Given the description of an element on the screen output the (x, y) to click on. 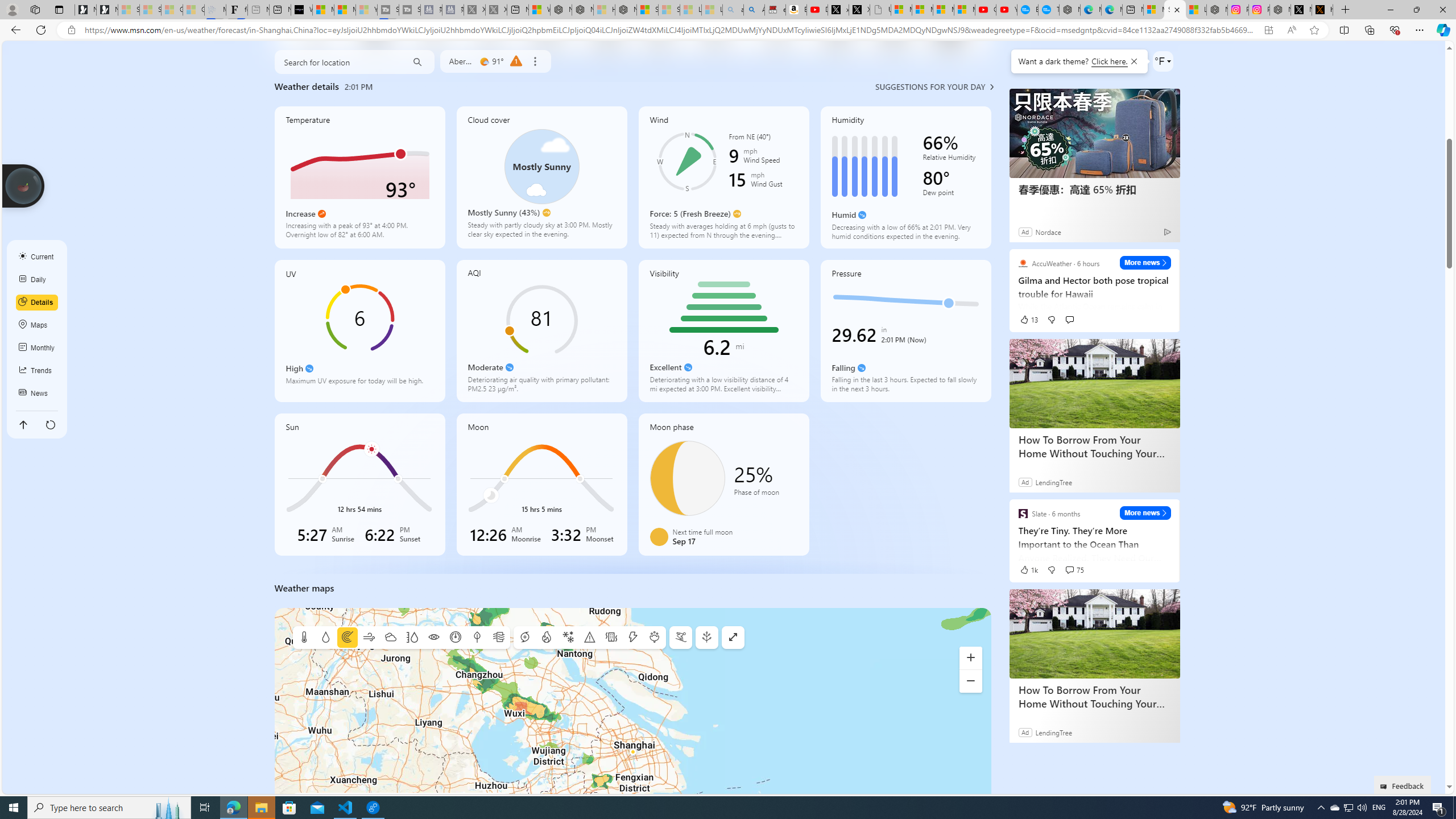
How To Borrow From Your Home Without Touching Your Mortgage (1093, 696)
UV (359, 330)
Radar (347, 637)
Untitled (879, 9)
